Given the description of an element on the screen output the (x, y) to click on. 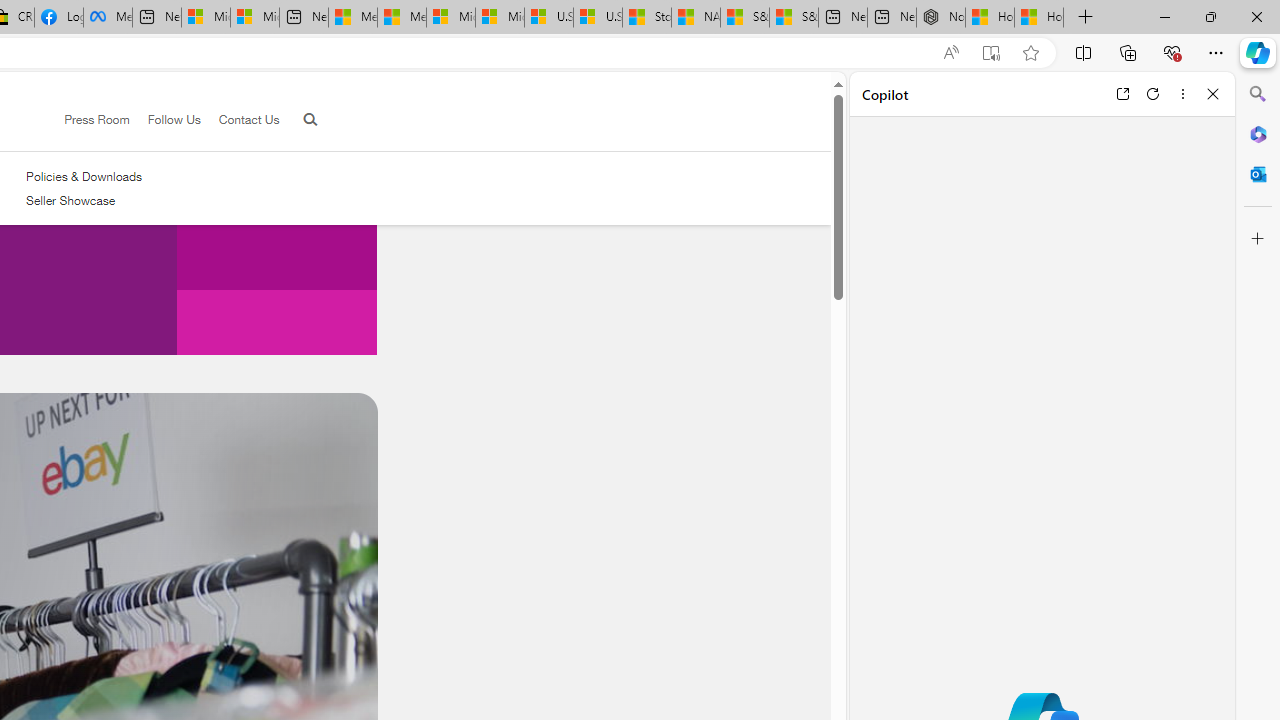
Read aloud this page (Ctrl+Shift+U) (950, 53)
Collections (1128, 52)
Restore (1210, 16)
Browser essentials (1171, 52)
Add this page to favorites (Ctrl+D) (1030, 53)
Refresh (1153, 93)
Policies & Downloads (84, 176)
Open link in new tab (1122, 93)
Policies & Downloads (84, 176)
Log into Facebook (58, 17)
S&P 500, Nasdaq end lower, weighed by Nvidia dip | Watch (793, 17)
Close (1213, 93)
